Given the description of an element on the screen output the (x, y) to click on. 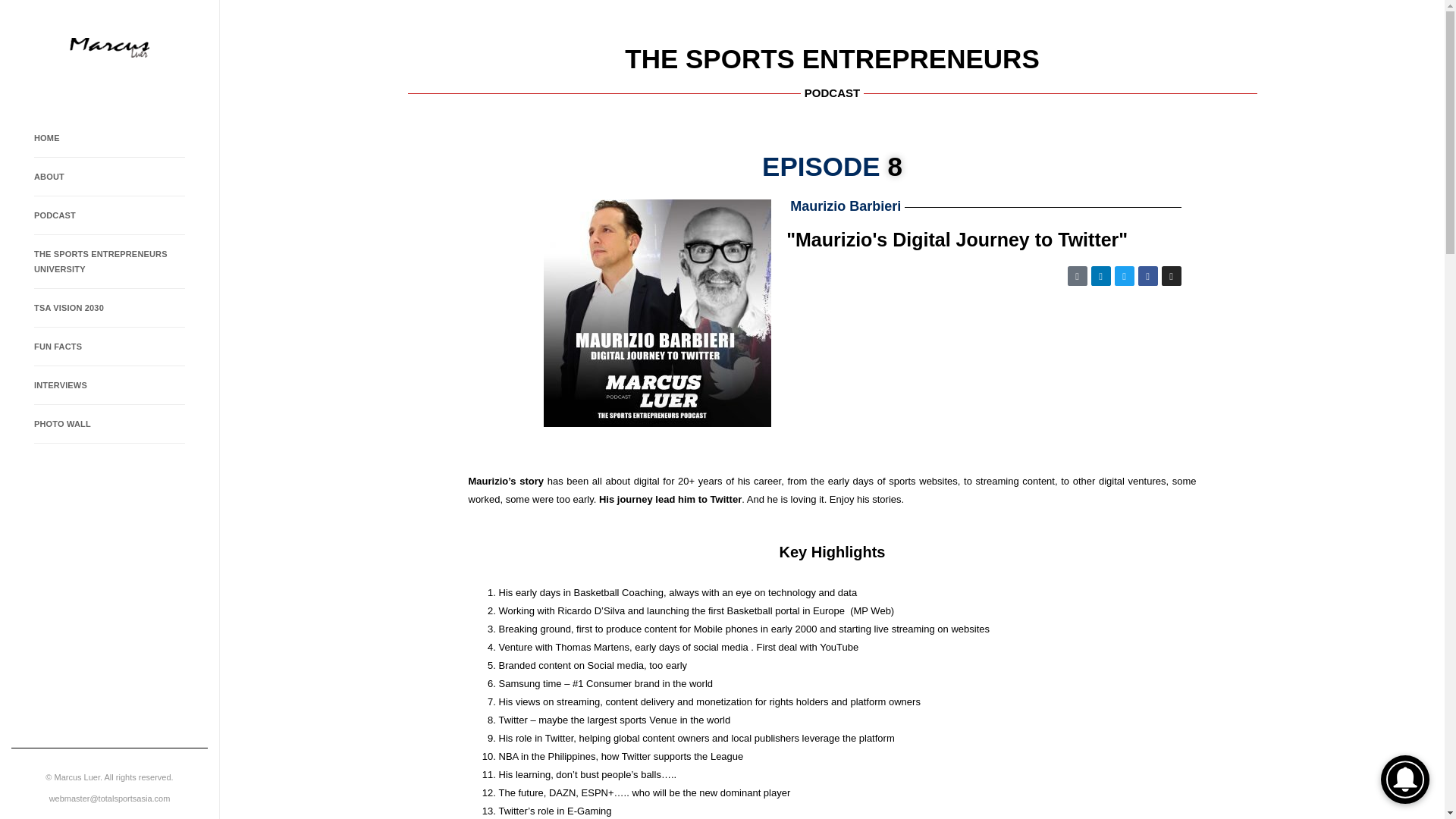
FUN FACTS (108, 346)
INTERVIEWS (108, 385)
PHOTO WALL (108, 423)
PODCAST (108, 215)
TSA VISION 2030 (108, 308)
Maurizio Barbieri, "Maurizio's Digital Journey to Twitter" (983, 365)
ABOUT (108, 177)
HOME (108, 138)
THE SPORTS ENTREPRENEURS UNIVERSITY (108, 262)
